Given the description of an element on the screen output the (x, y) to click on. 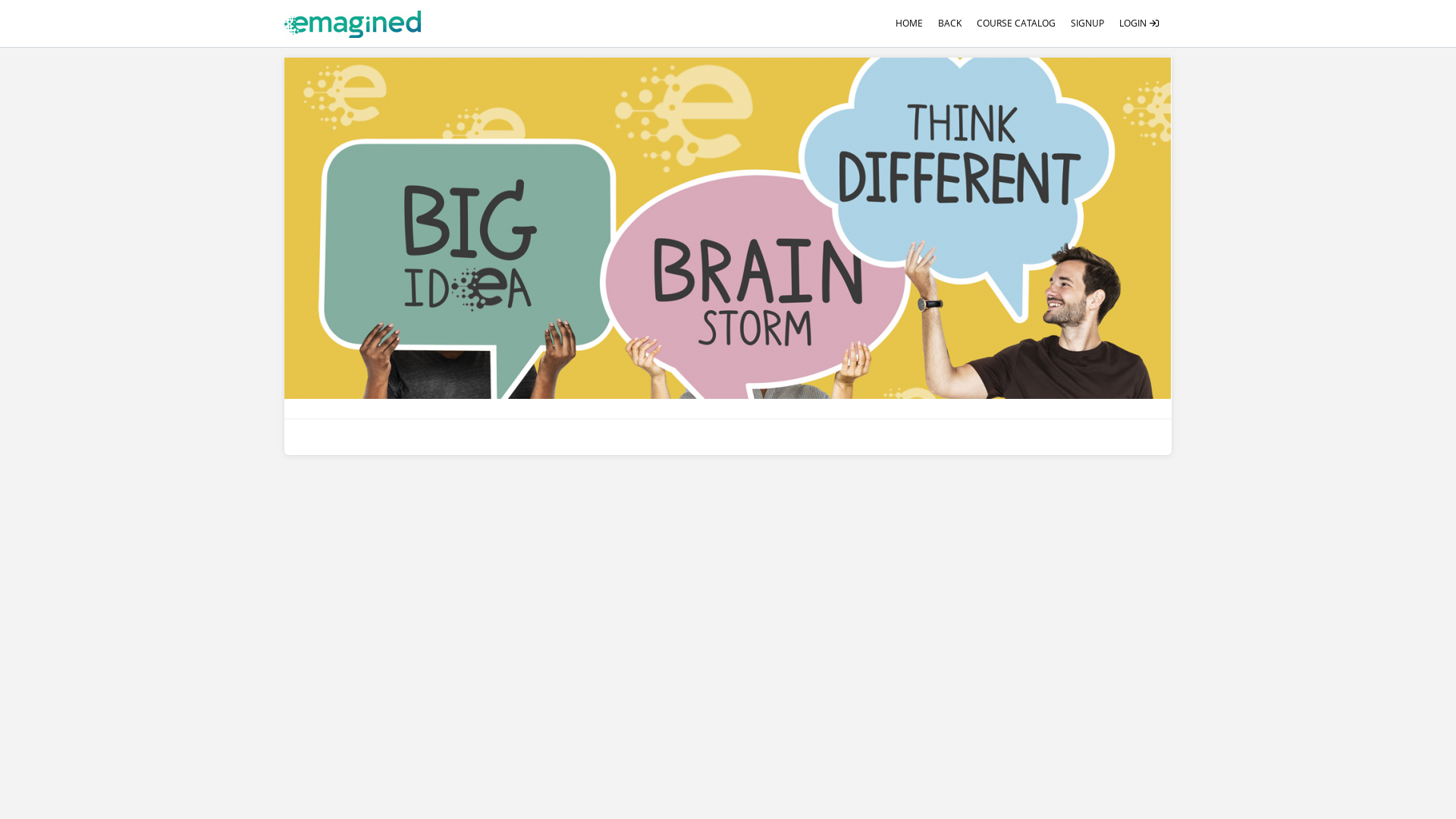
BACK Element type: text (949, 23)
LOGIN  Element type: text (1139, 23)
SIGNUP Element type: text (1087, 23)
COURSE CATALOG Element type: text (1016, 23)
HOME Element type: text (909, 23)
